Given the description of an element on the screen output the (x, y) to click on. 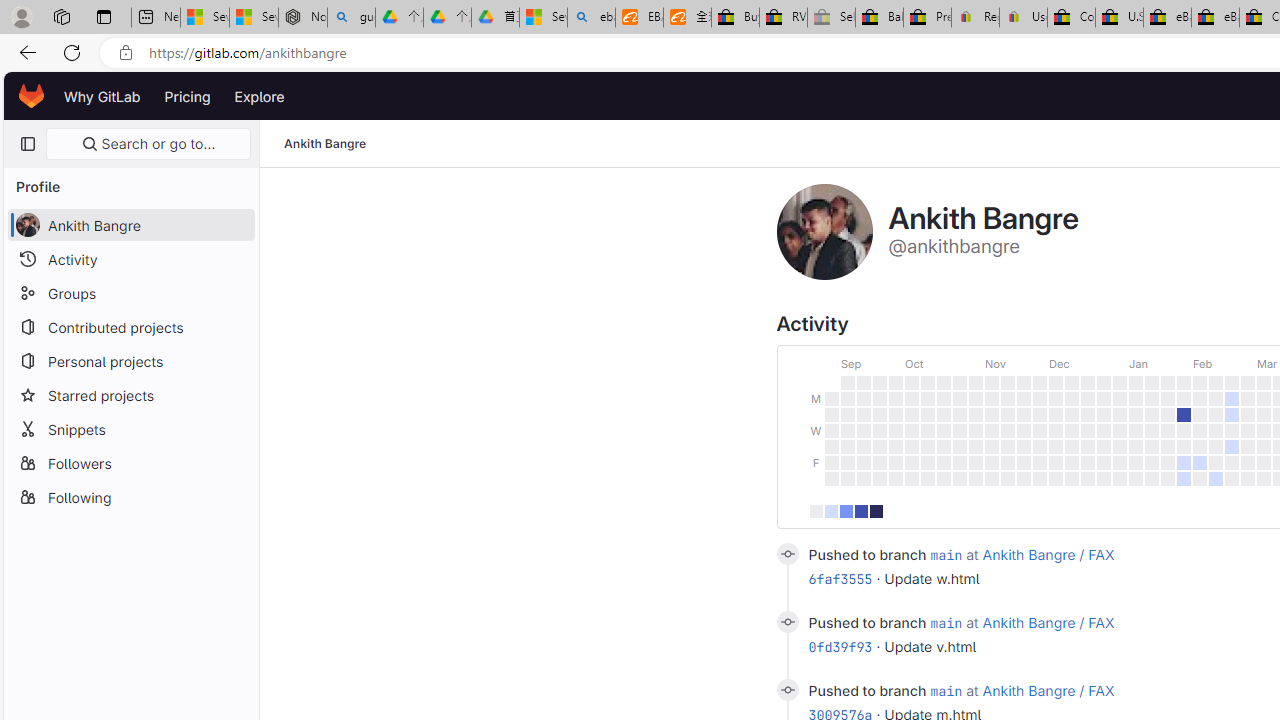
Register: Create a personal eBay account (975, 17)
eBay Inc. Reports Third Quarter 2023 Results (1215, 17)
